Given the description of an element on the screen output the (x, y) to click on. 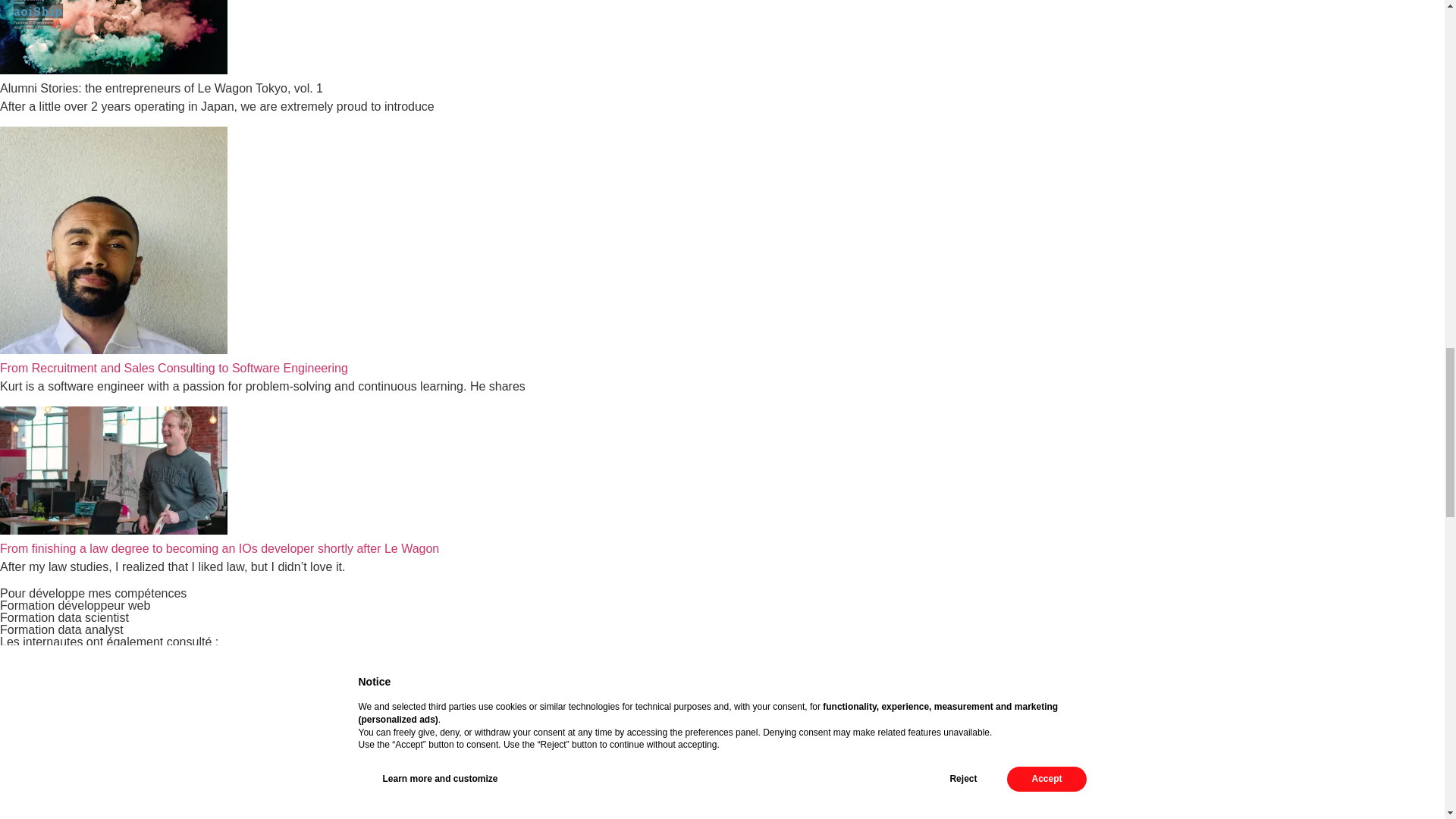
Internships after a coding bootcamp: A good strategy? (144, 813)
